Given the description of an element on the screen output the (x, y) to click on. 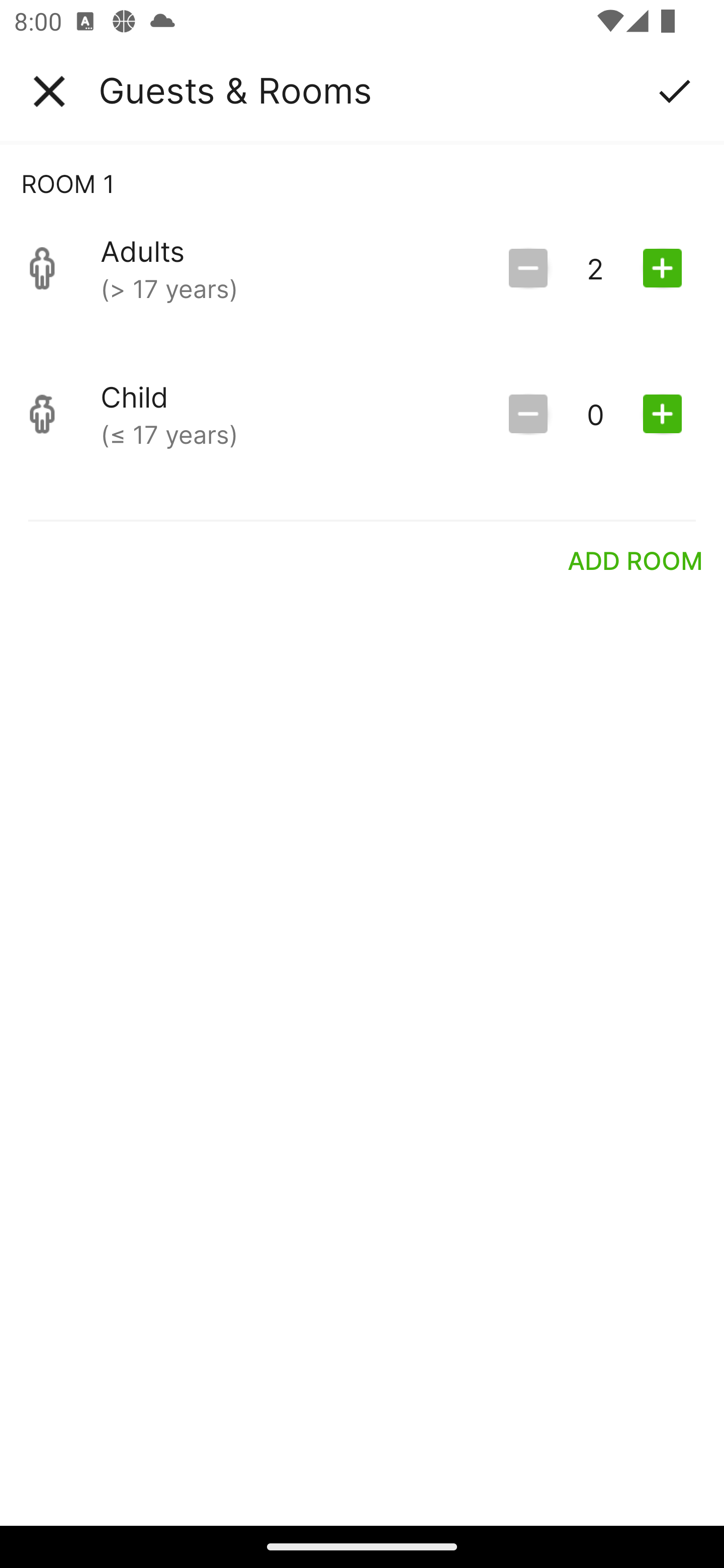
ADD ROOM (635, 560)
